Given the description of an element on the screen output the (x, y) to click on. 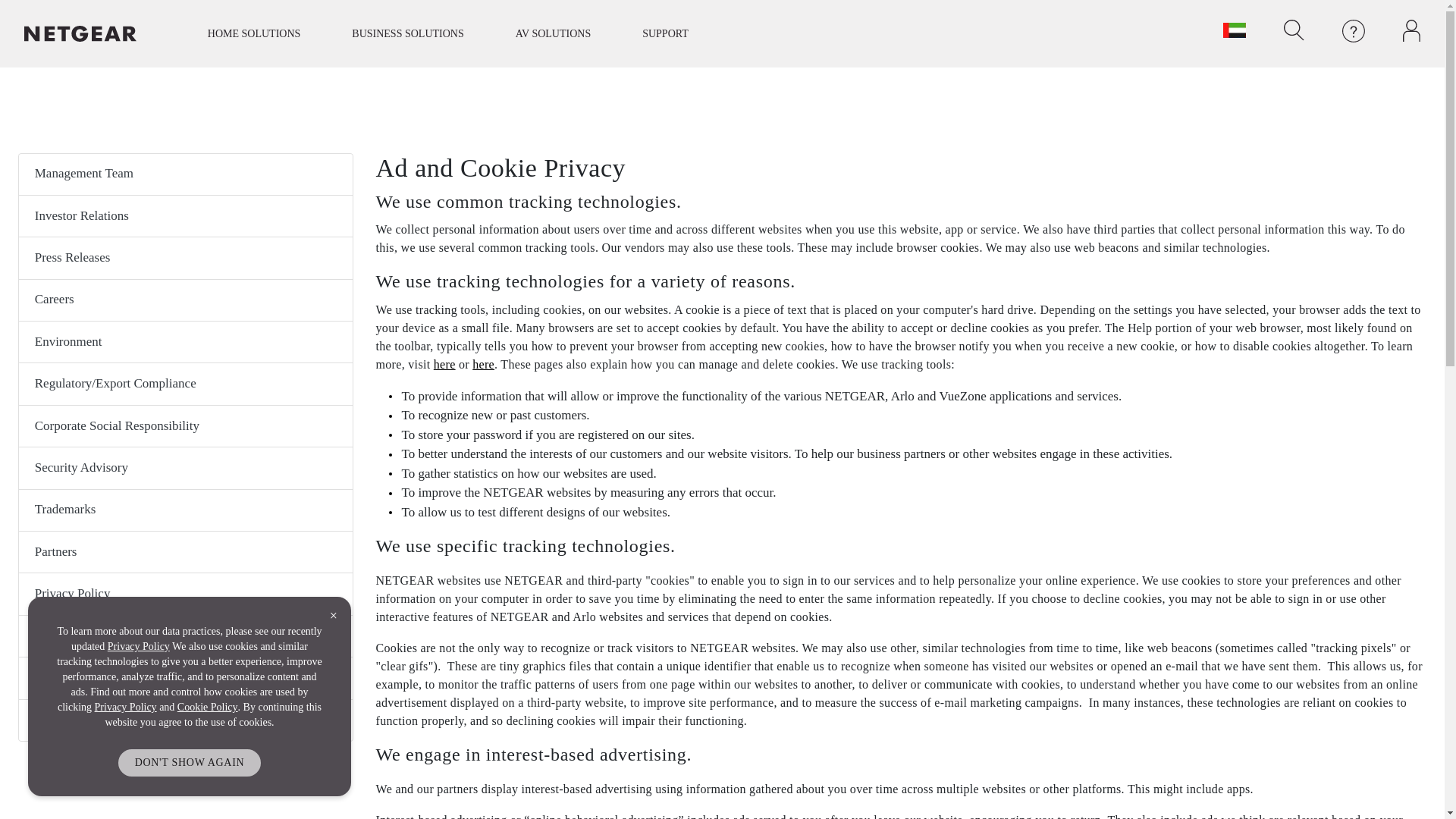
HOME SOLUTIONS (253, 33)
BUSINESS SOLUTIONS (408, 33)
